Given the description of an element on the screen output the (x, y) to click on. 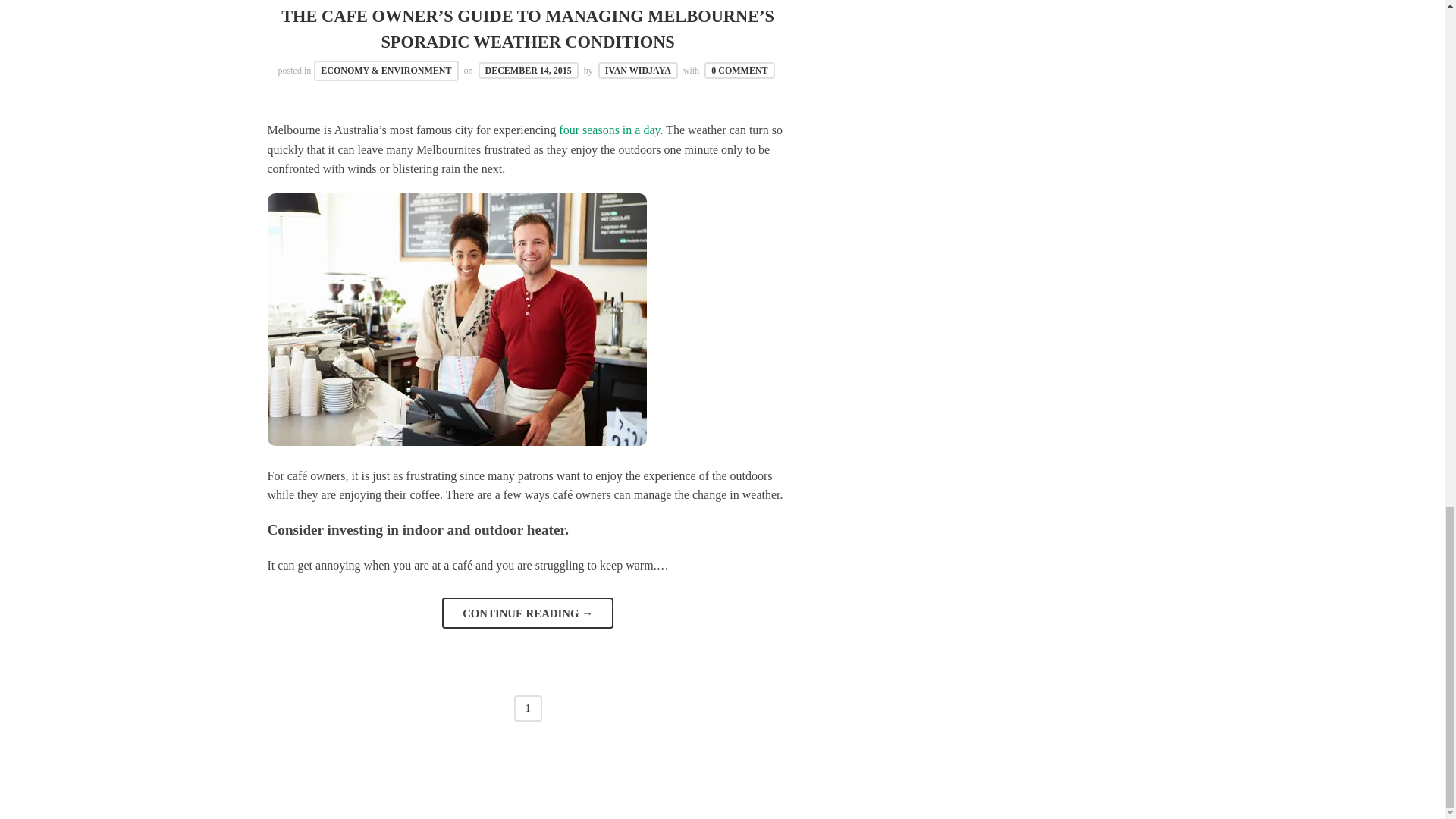
5:08 am (527, 70)
DECEMBER 14, 2015 (527, 70)
four seasons in a day (609, 129)
View all posts by Ivan Widjaya (638, 70)
IVAN WIDJAYA (638, 70)
0 COMMENT (739, 70)
1 (527, 708)
